Given the description of an element on the screen output the (x, y) to click on. 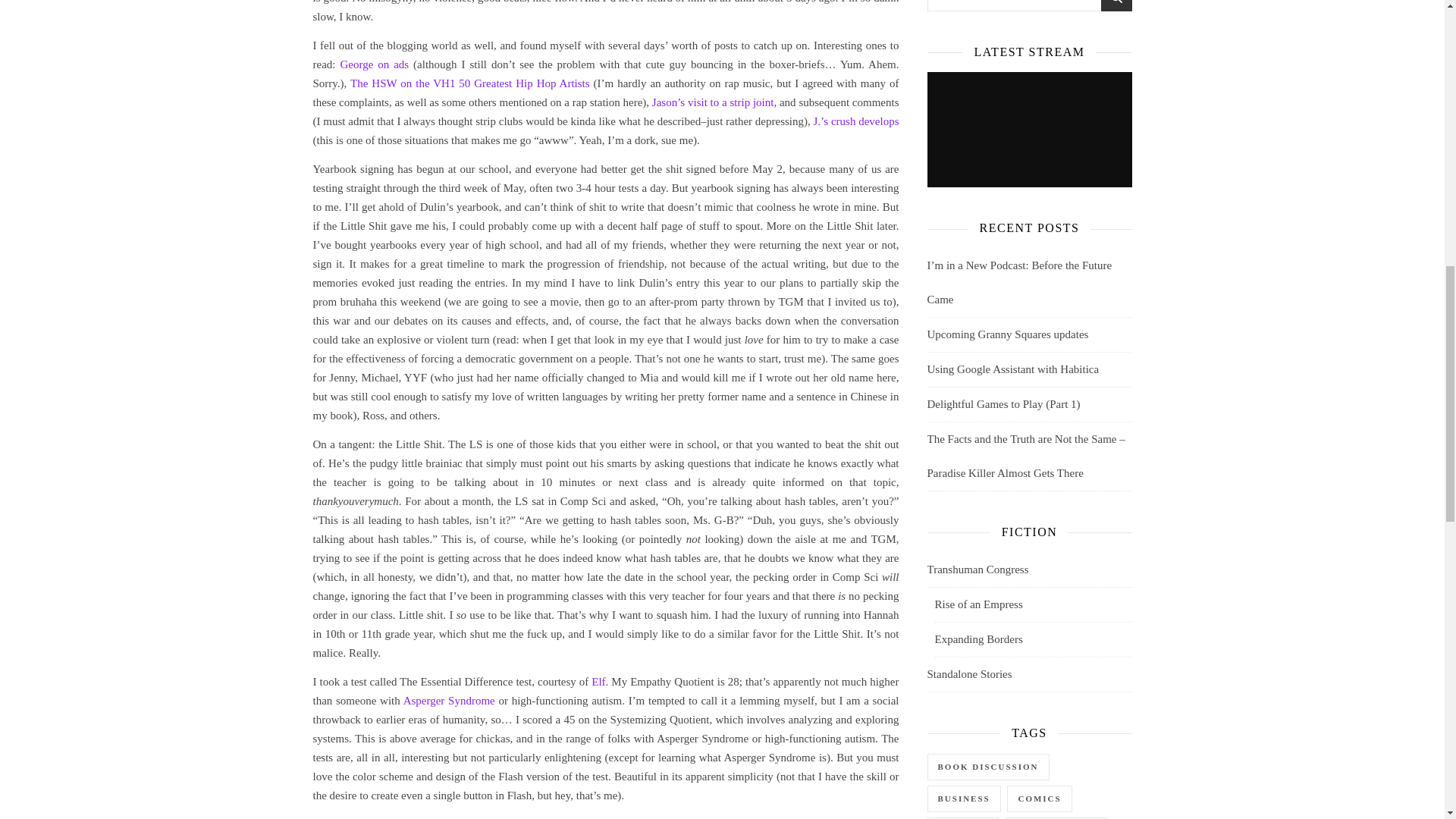
Elf (598, 680)
Stream Archives (1028, 129)
Asperger Syndrome (449, 700)
Upcoming Granny Squares updates (1006, 334)
Using Google Assistant with Habitica (1012, 369)
navel (347, 818)
George on ads (374, 63)
The HSW on the VH1 50 Greatest Hip Hop Artists (469, 82)
gazing (381, 818)
st (1116, 6)
